Given the description of an element on the screen output the (x, y) to click on. 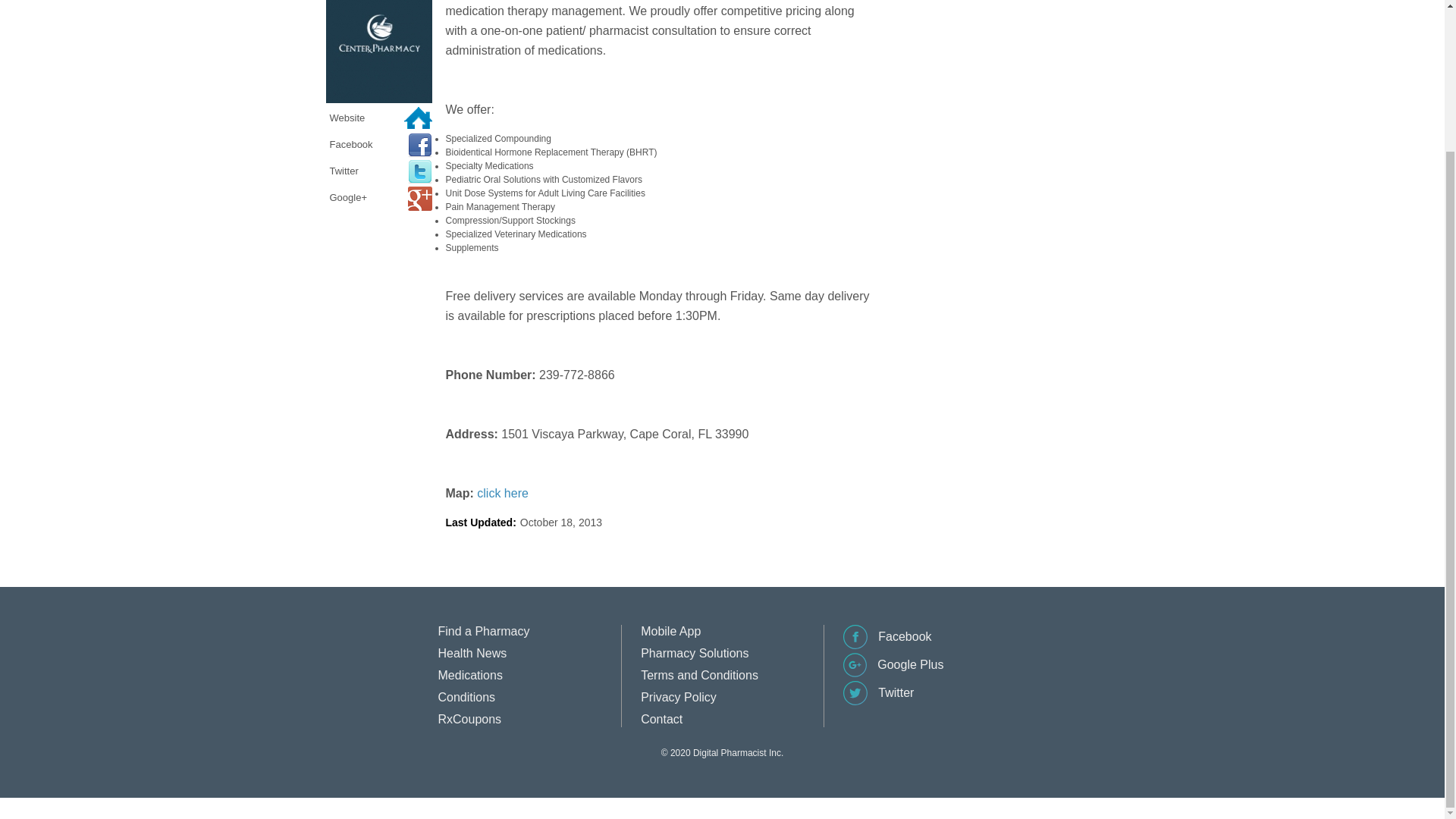
Facebook (887, 644)
Medications (470, 675)
click here (502, 492)
Contact (661, 718)
Pharmacy Solutions (694, 653)
Privacy Policy (678, 697)
Conditions (467, 697)
Terms and Conditions (699, 675)
Health News (472, 653)
Find a Pharmacy (483, 631)
RxCoupons (470, 718)
Google Plus (893, 672)
Mobile App (670, 631)
